Given the description of an element on the screen output the (x, y) to click on. 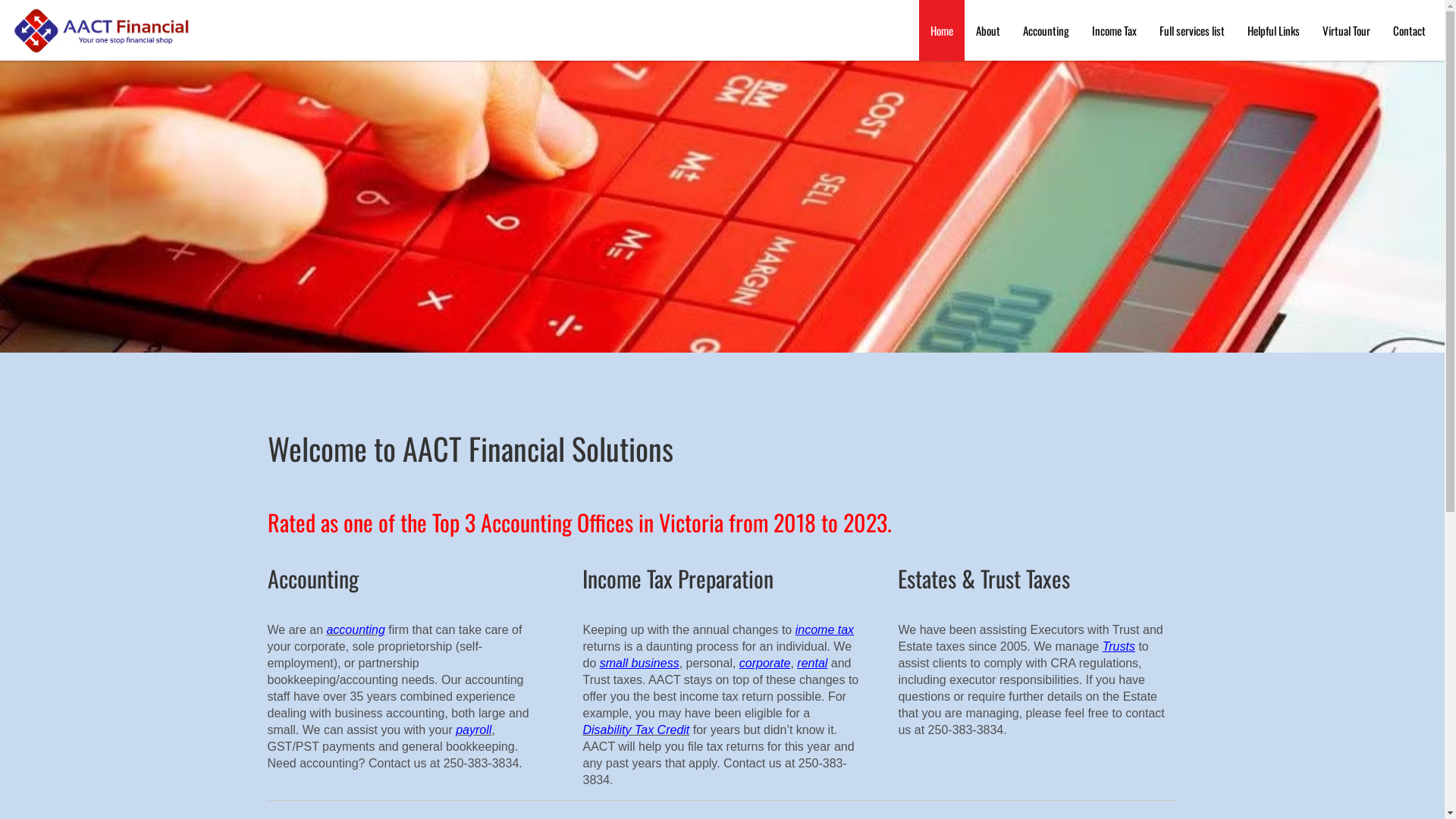
Trusts Element type: text (1118, 646)
Income Tax Element type: text (1114, 30)
Accounting Element type: text (1045, 30)
rental Element type: text (812, 662)
About Element type: text (987, 30)
Contact Element type: text (1409, 30)
accounting Element type: text (355, 629)
Full services list Element type: text (1192, 30)
Home Element type: text (941, 30)
income tax Element type: text (824, 629)
Virtual Tour Element type: text (1346, 30)
Helpful Links Element type: text (1273, 30)
small business Element type: text (639, 662)
payroll Element type: text (473, 729)
Disability Tax Credit Element type: text (635, 729)
corporate Element type: text (764, 662)
